Given the description of an element on the screen output the (x, y) to click on. 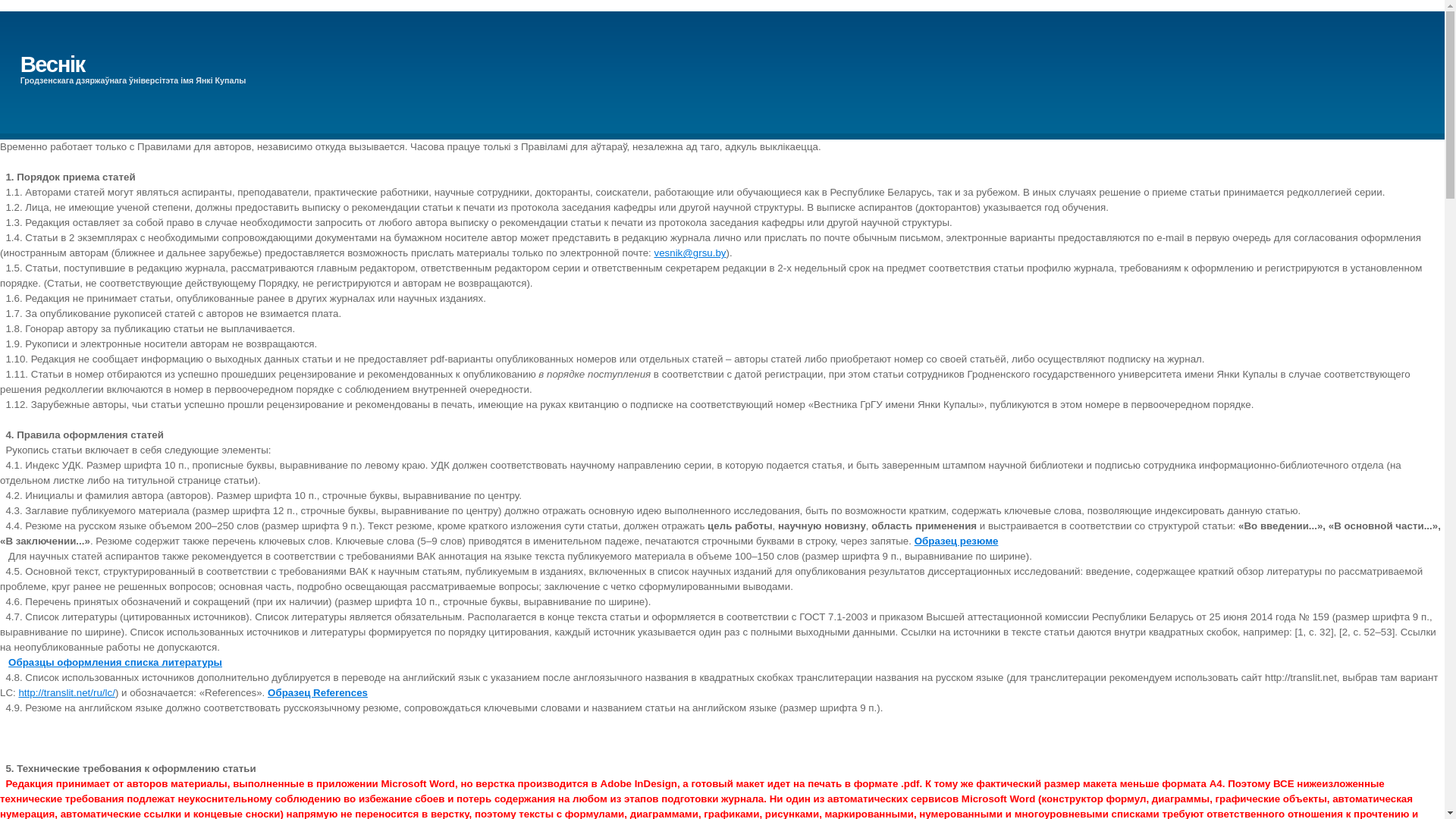
vesnik@grsu.by Element type: text (689, 252)
http://translit.net/ru/lc/ Element type: text (66, 692)
